Given the description of an element on the screen output the (x, y) to click on. 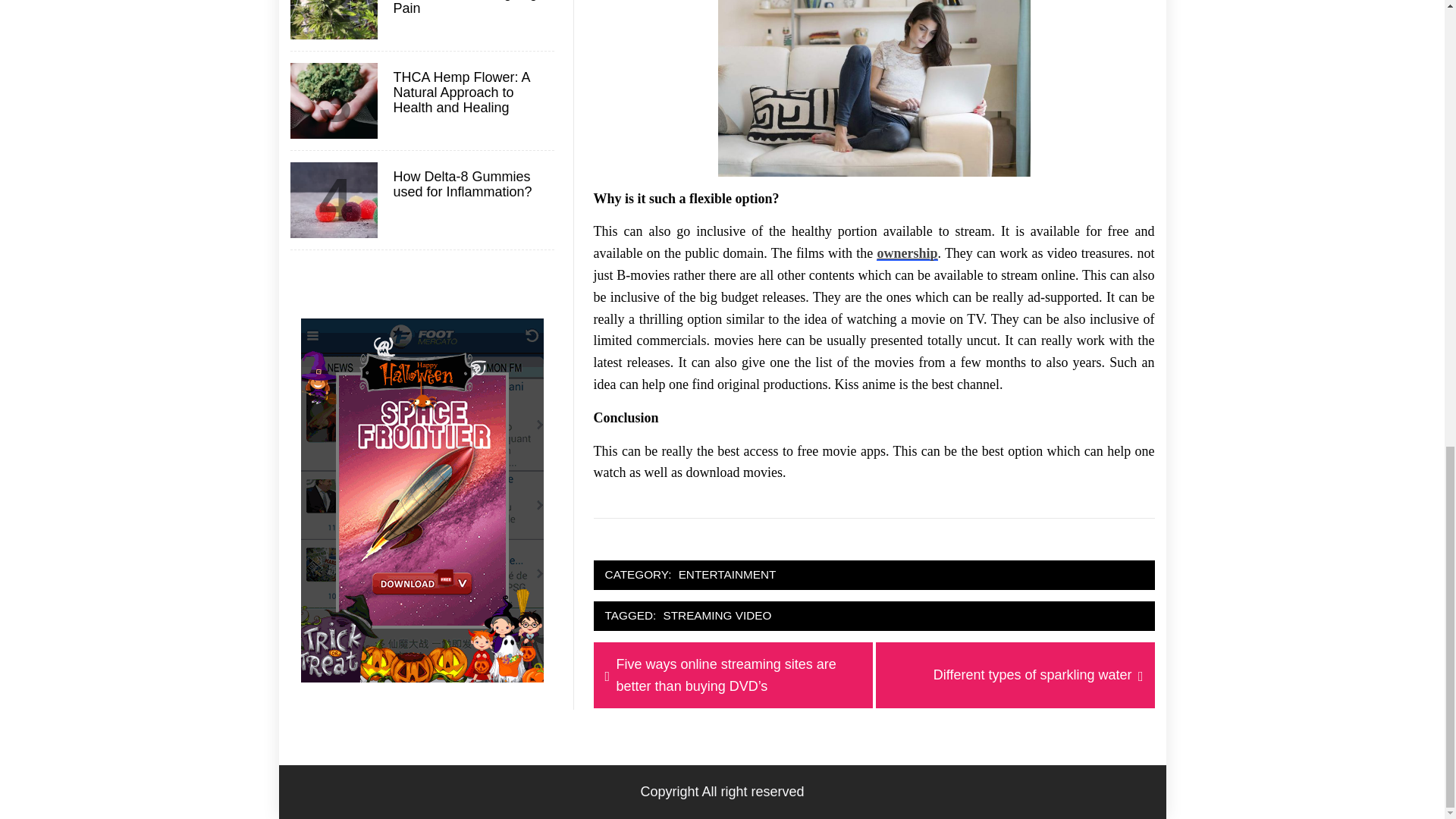
STREAMING VIDEO (717, 616)
THCA Hemp Flower: A Natural Approach to Health and Healing (471, 92)
How Delta-8 Gummies used for Inflammation? (1031, 675)
ENTERTAINMENT (471, 184)
ownership (727, 575)
Finding Relief: Delta 8 Flower Use for Ongoing Pain (906, 253)
